Given the description of an element on the screen output the (x, y) to click on. 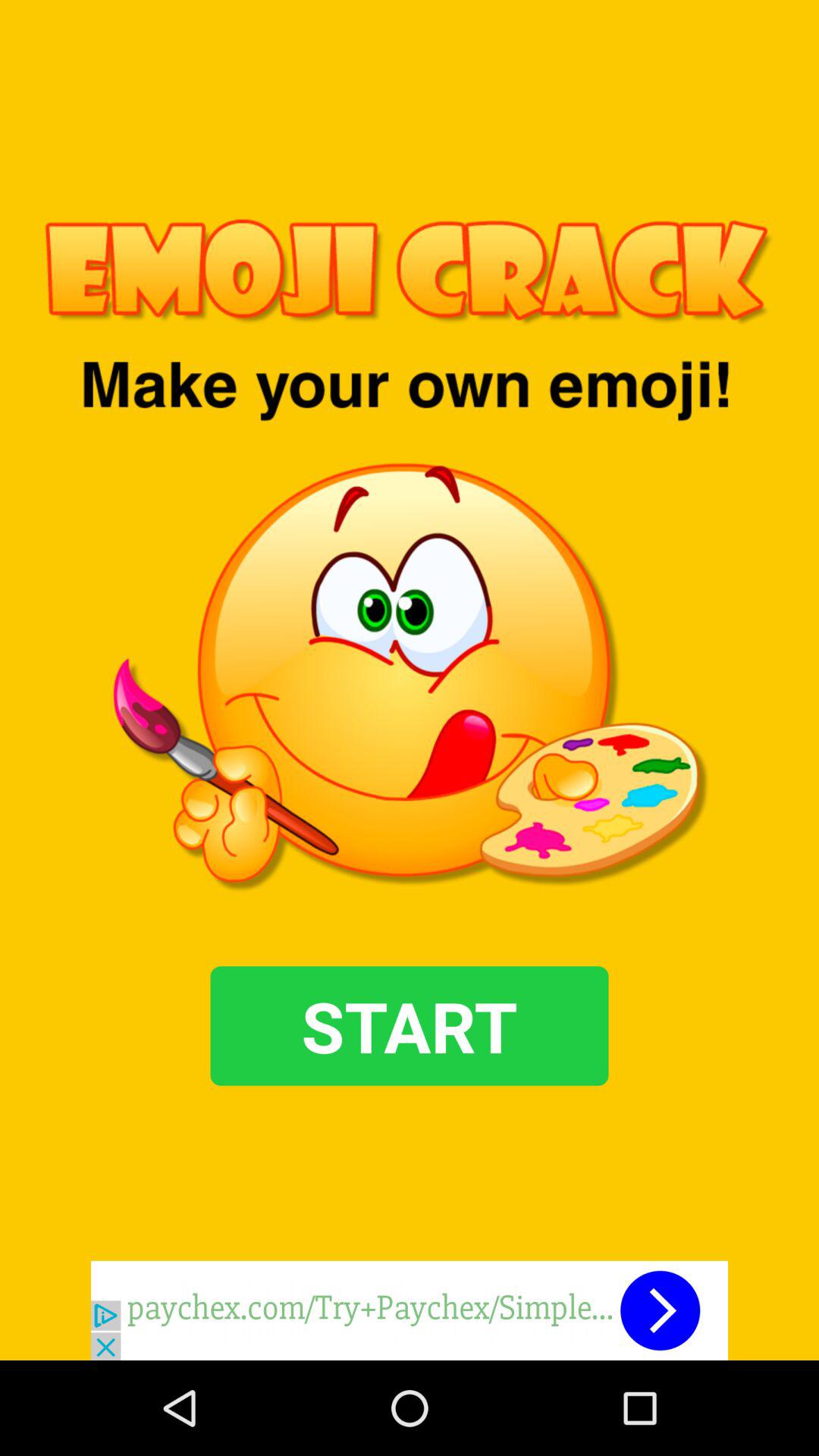
open advertisements (409, 1310)
